Given the description of an element on the screen output the (x, y) to click on. 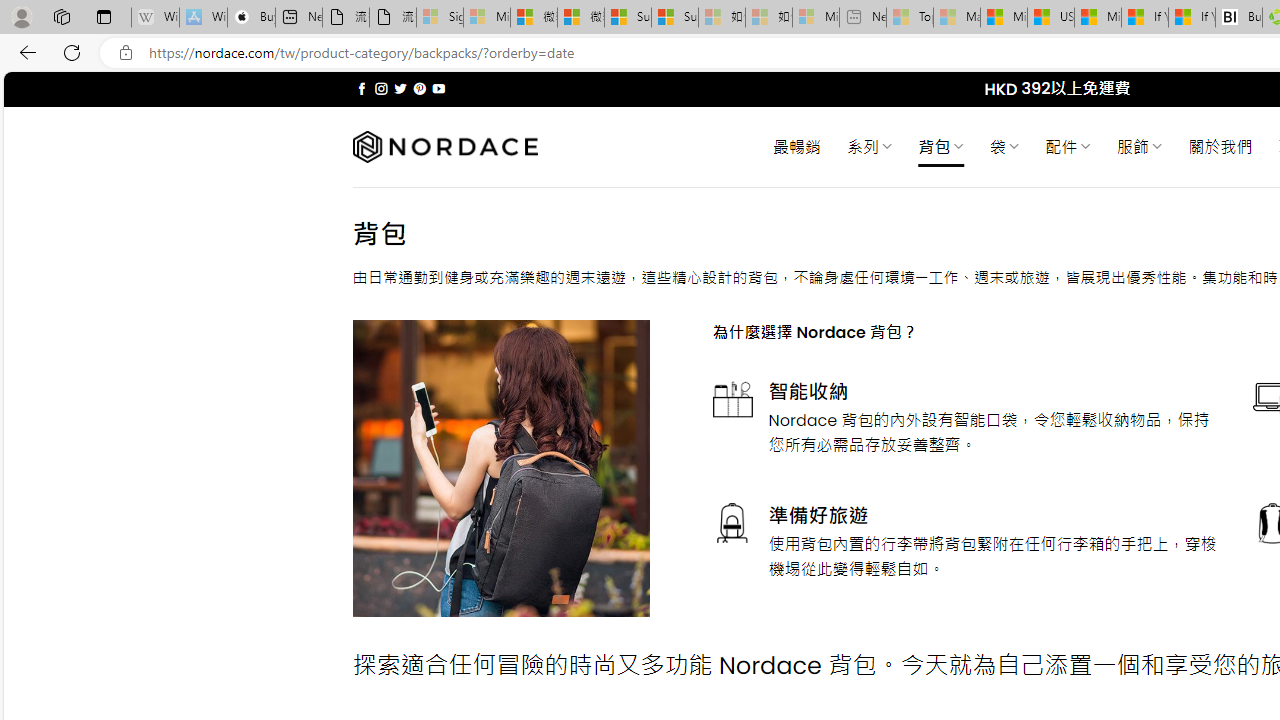
Microsoft Services Agreement - Sleeping (486, 17)
Follow on Pinterest (419, 88)
Buy iPad - Apple (251, 17)
Top Stories - MSN - Sleeping (910, 17)
